Given the description of an element on the screen output the (x, y) to click on. 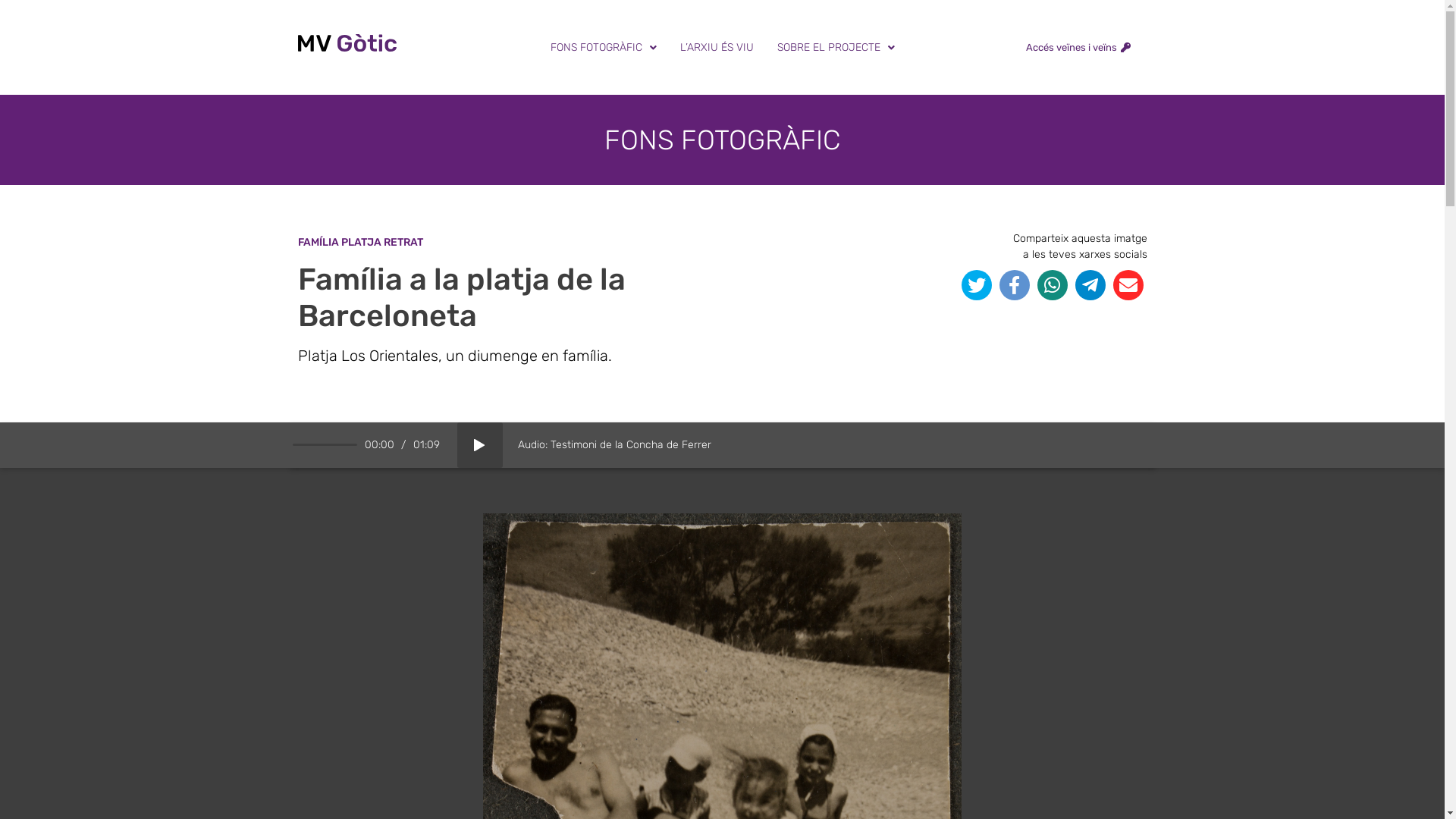
MV-Gotic Element type: hover (346, 47)
SOBRE EL PROJECTE Element type: text (835, 47)
